Given the description of an element on the screen output the (x, y) to click on. 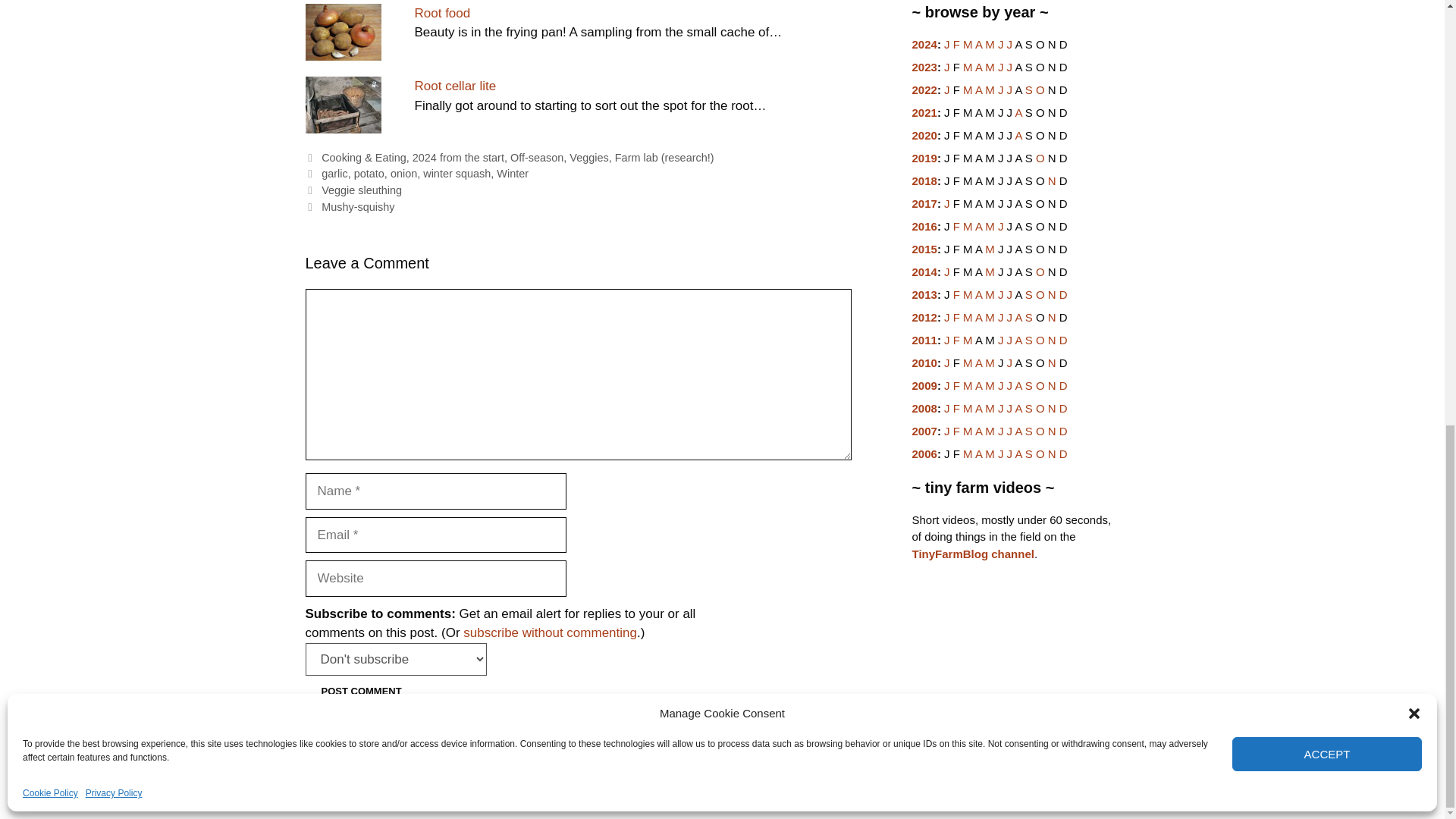
Winter (512, 173)
Post Comment (360, 690)
Veggies (588, 157)
2024 from the start (457, 157)
Off-season (537, 157)
garlic (334, 173)
potato (368, 173)
winter squash (456, 173)
Root cellar lite (454, 85)
onion (403, 173)
Root food (441, 12)
